Given the description of an element on the screen output the (x, y) to click on. 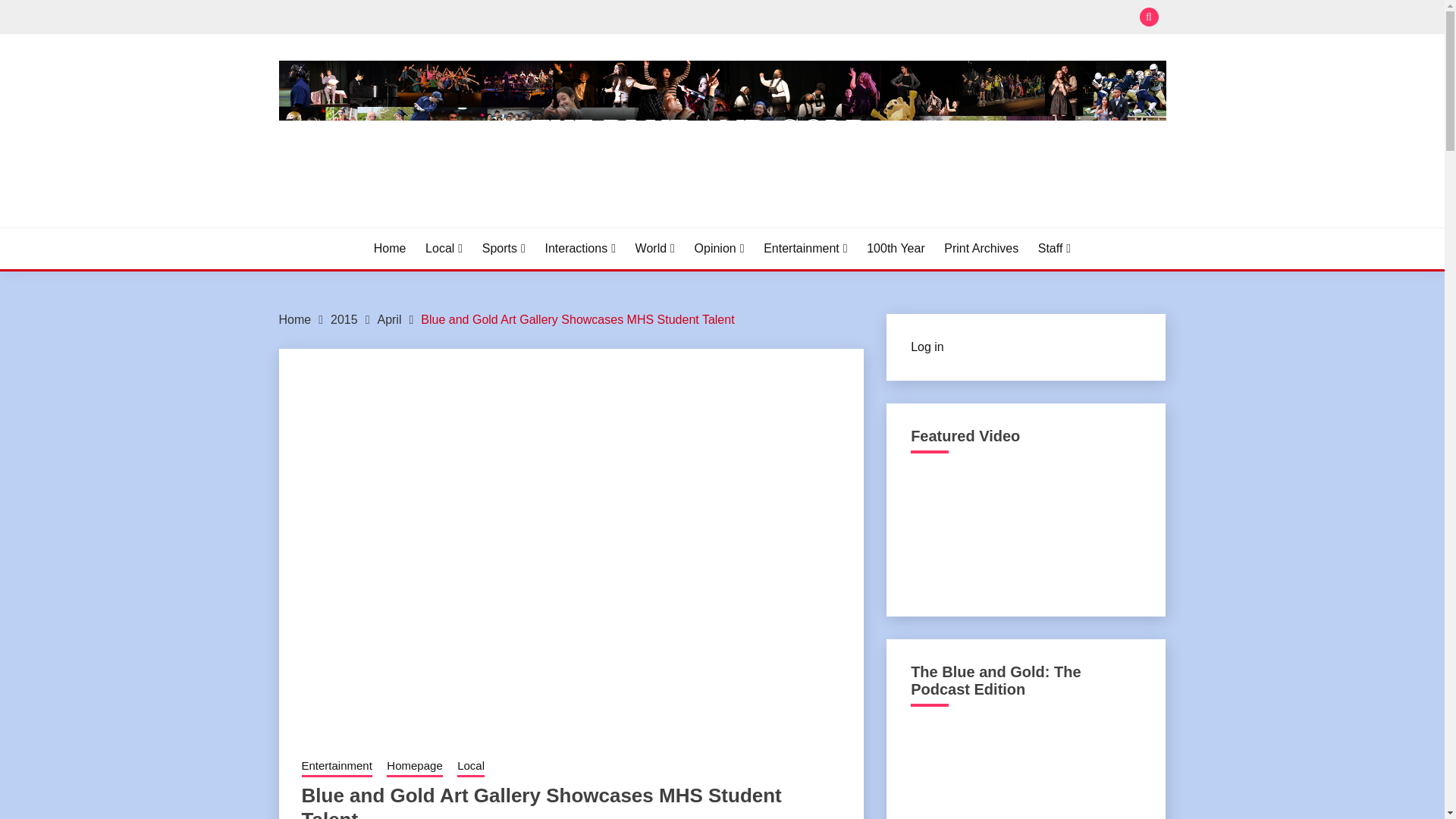
Opinion (719, 248)
Search (832, 18)
Entertainment (804, 248)
April (389, 318)
Home (390, 248)
2015 (344, 318)
World (654, 248)
Blue and Gold Art Gallery Showcases MHS Student Talent (576, 318)
Print Archives (980, 248)
100th Year (895, 248)
